Given the description of an element on the screen output the (x, y) to click on. 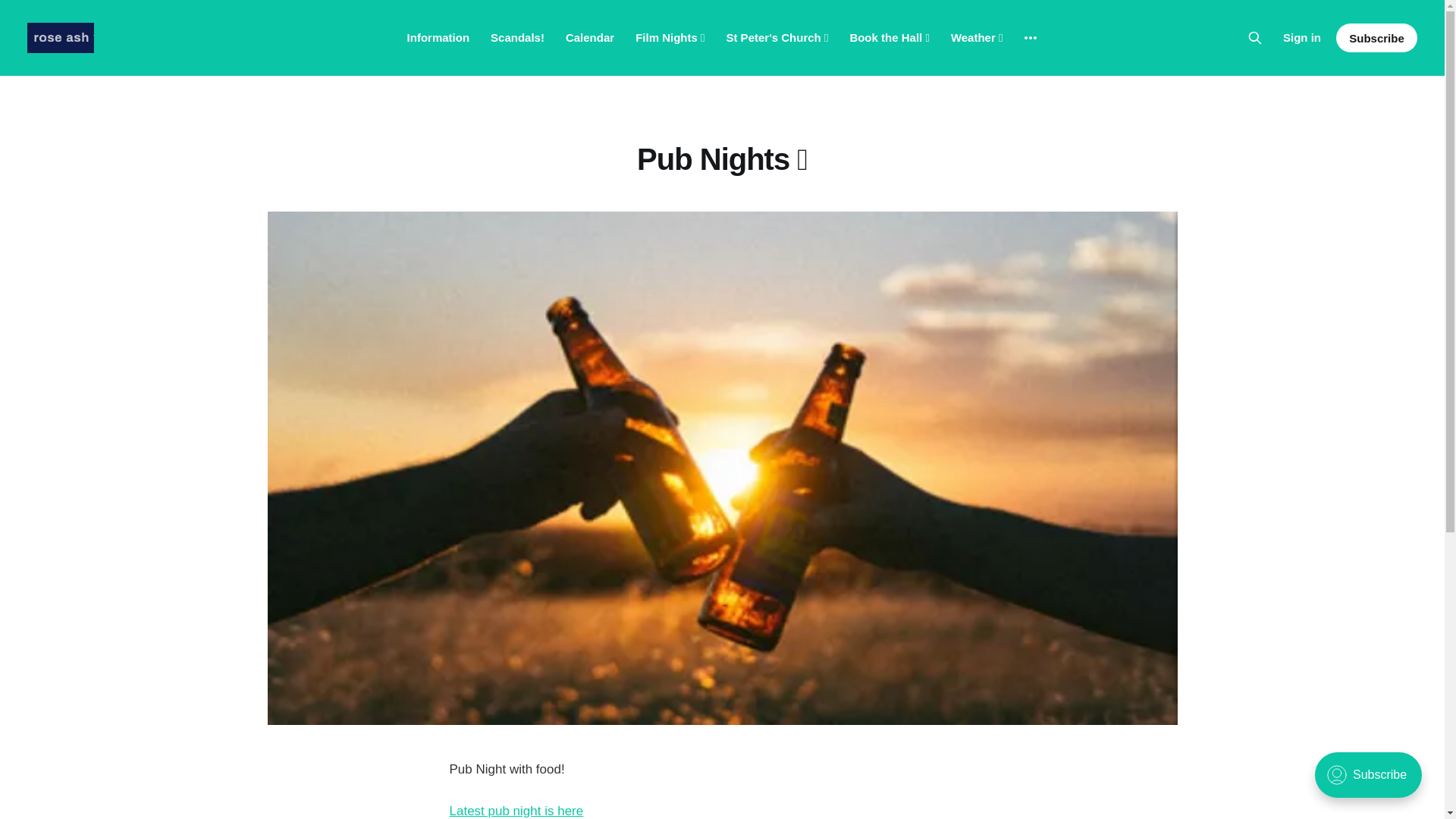
Calendar (590, 37)
Sign in (1301, 37)
Scandals! (517, 37)
Latest pub night is here (515, 810)
Information (438, 37)
Subscribe (1376, 37)
